Given the description of an element on the screen output the (x, y) to click on. 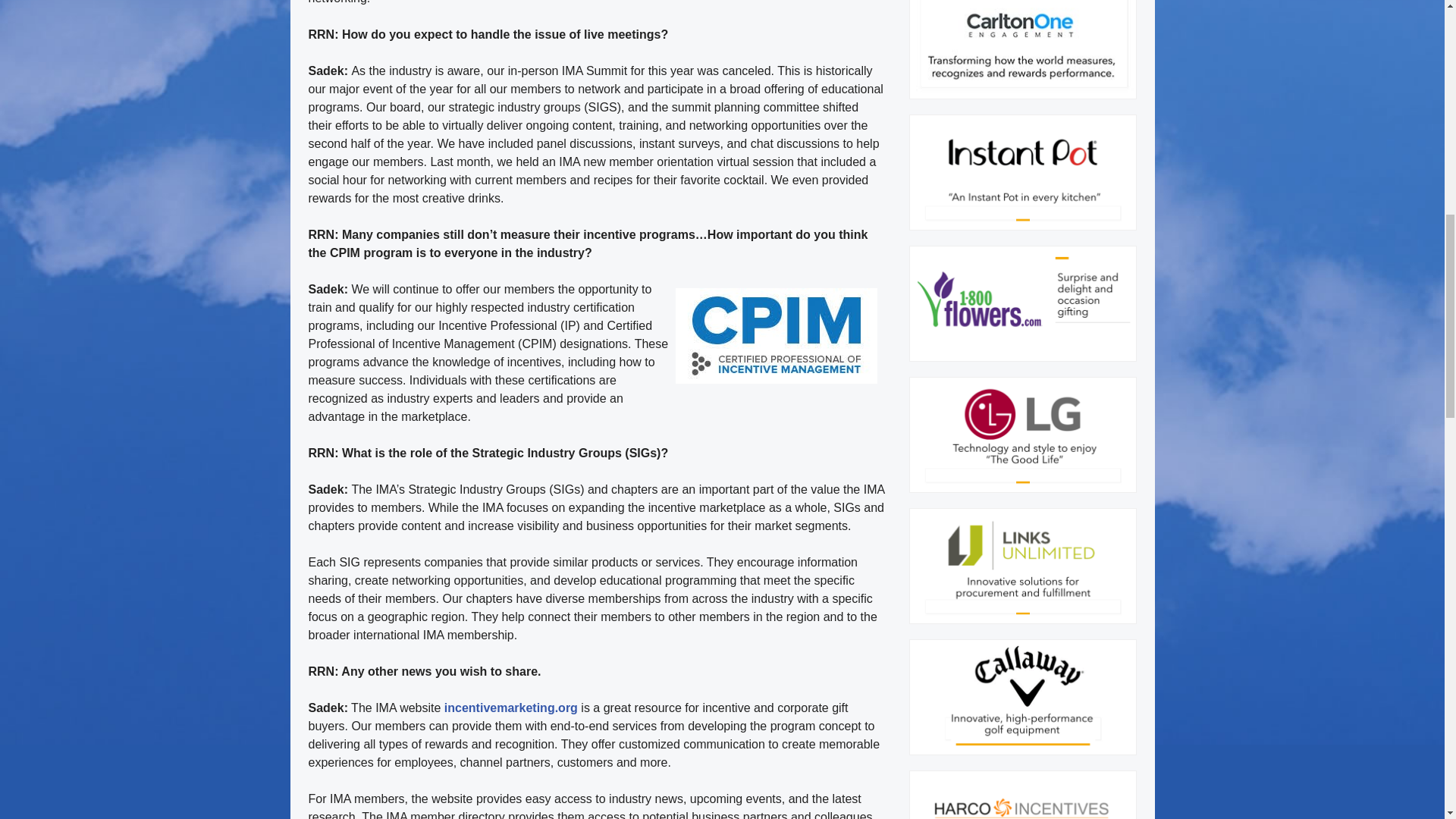
incentivemarketing.org (511, 707)
